Given the description of an element on the screen output the (x, y) to click on. 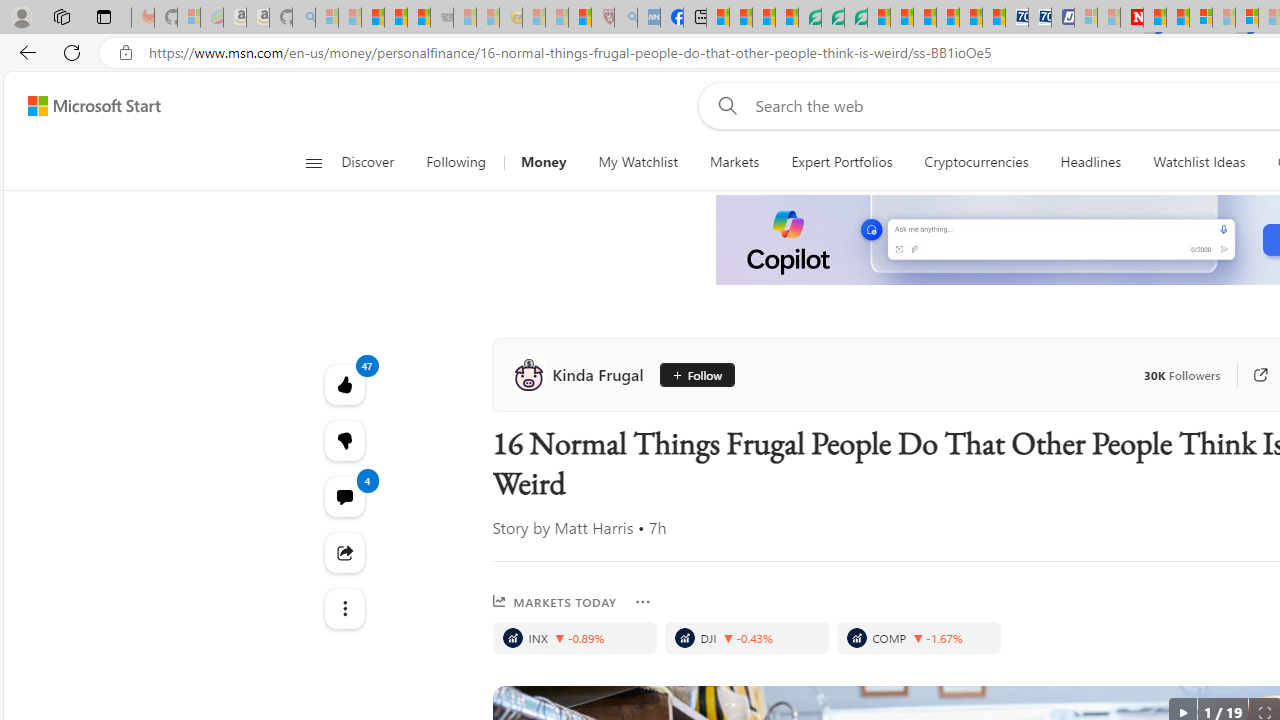
Microsoft account | Privacy - Sleeping (1085, 17)
Latest Politics News & Archive | Newsweek.com (1132, 17)
INX, S&P 500. Price is 5,570.64. Decreased by -0.89% (573, 637)
list of asthma inhalers uk - Search - Sleeping (625, 17)
Following (457, 162)
Skip to footer (82, 105)
Class: button-glyph (313, 162)
My Watchlist (637, 162)
NCL Adult Asthma Inhaler Choice Guideline - Sleeping (648, 17)
Share this story (343, 552)
World - MSN (763, 17)
